Given the description of an element on the screen output the (x, y) to click on. 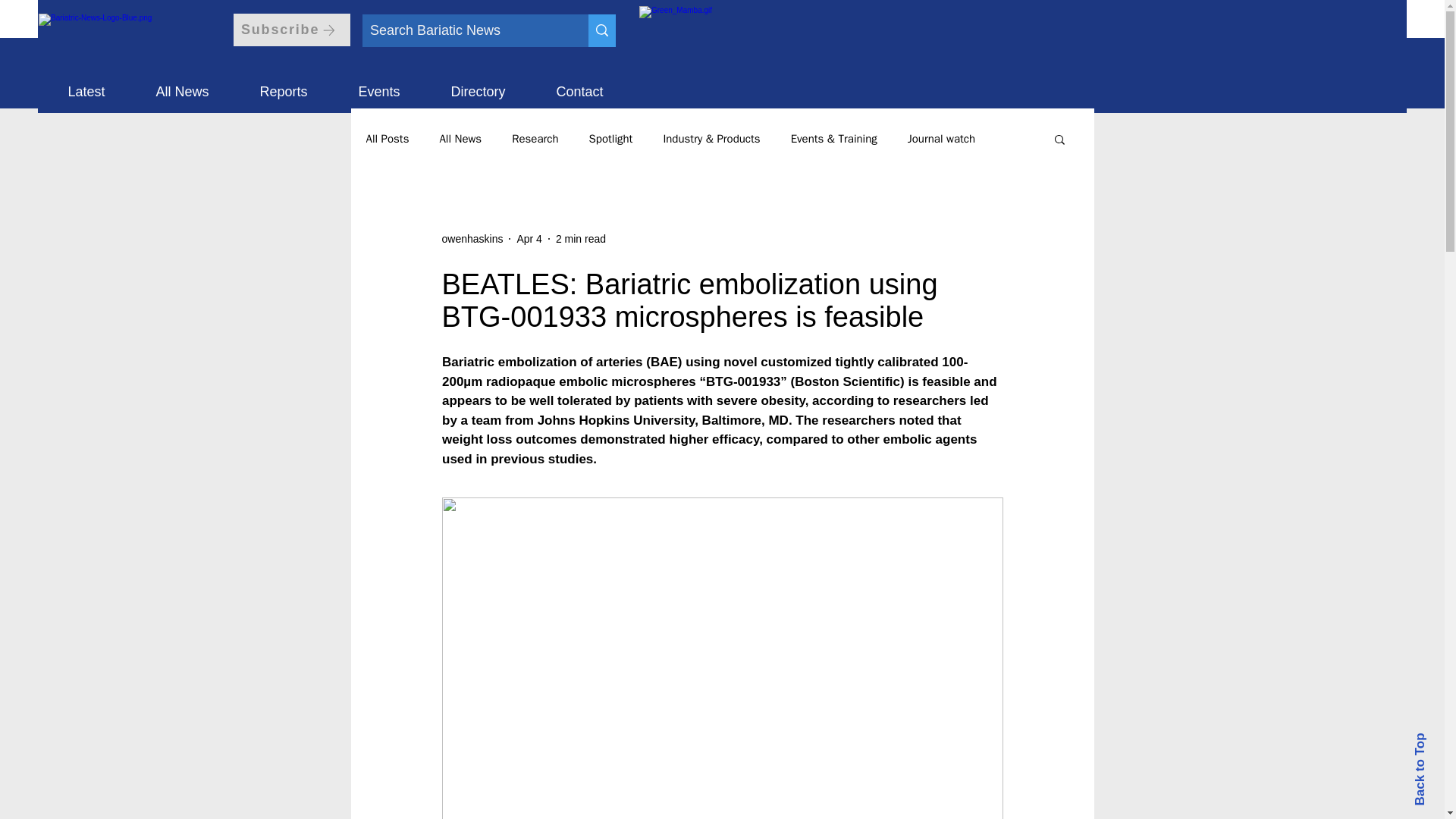
Directory (478, 85)
Contact (579, 85)
owenhaskins (471, 238)
Spotlight (611, 138)
All News (460, 138)
All Posts (387, 138)
Research (534, 138)
Journal watch (941, 138)
2 min read (580, 237)
Apr 4 (528, 237)
Reports (283, 85)
Subscribe (291, 29)
Events (379, 85)
owenhaskins (471, 238)
Latest (86, 85)
